Given the description of an element on the screen output the (x, y) to click on. 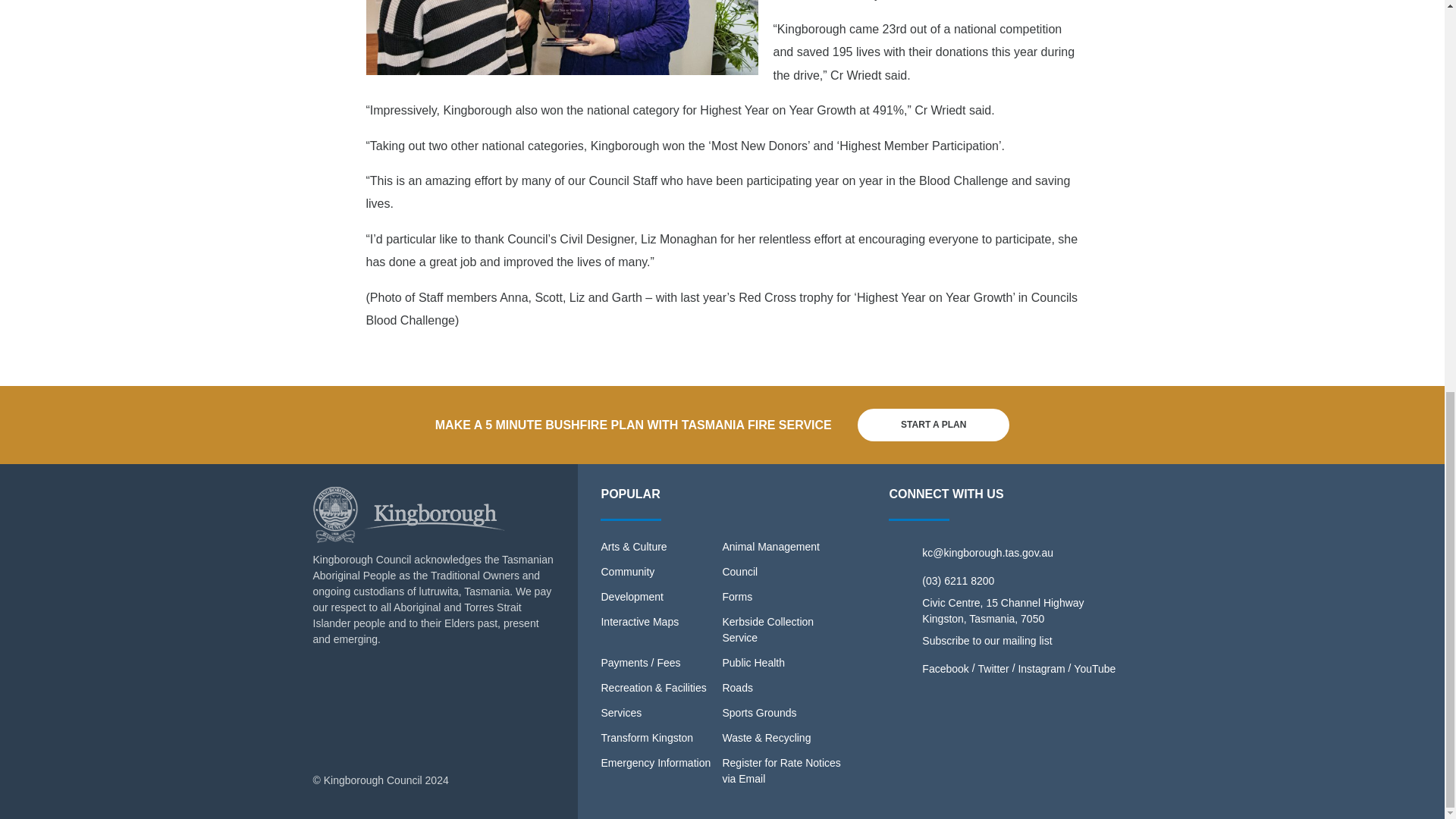
Forms (737, 596)
Sports Grounds (759, 712)
Services (620, 712)
Kerbside Collection Service (767, 629)
Development (631, 596)
Council (739, 571)
Community (626, 571)
START A PLAN (933, 424)
Interactive Maps (638, 621)
Animal Management (770, 546)
Public Health (753, 662)
Roads (737, 687)
